Given the description of an element on the screen output the (x, y) to click on. 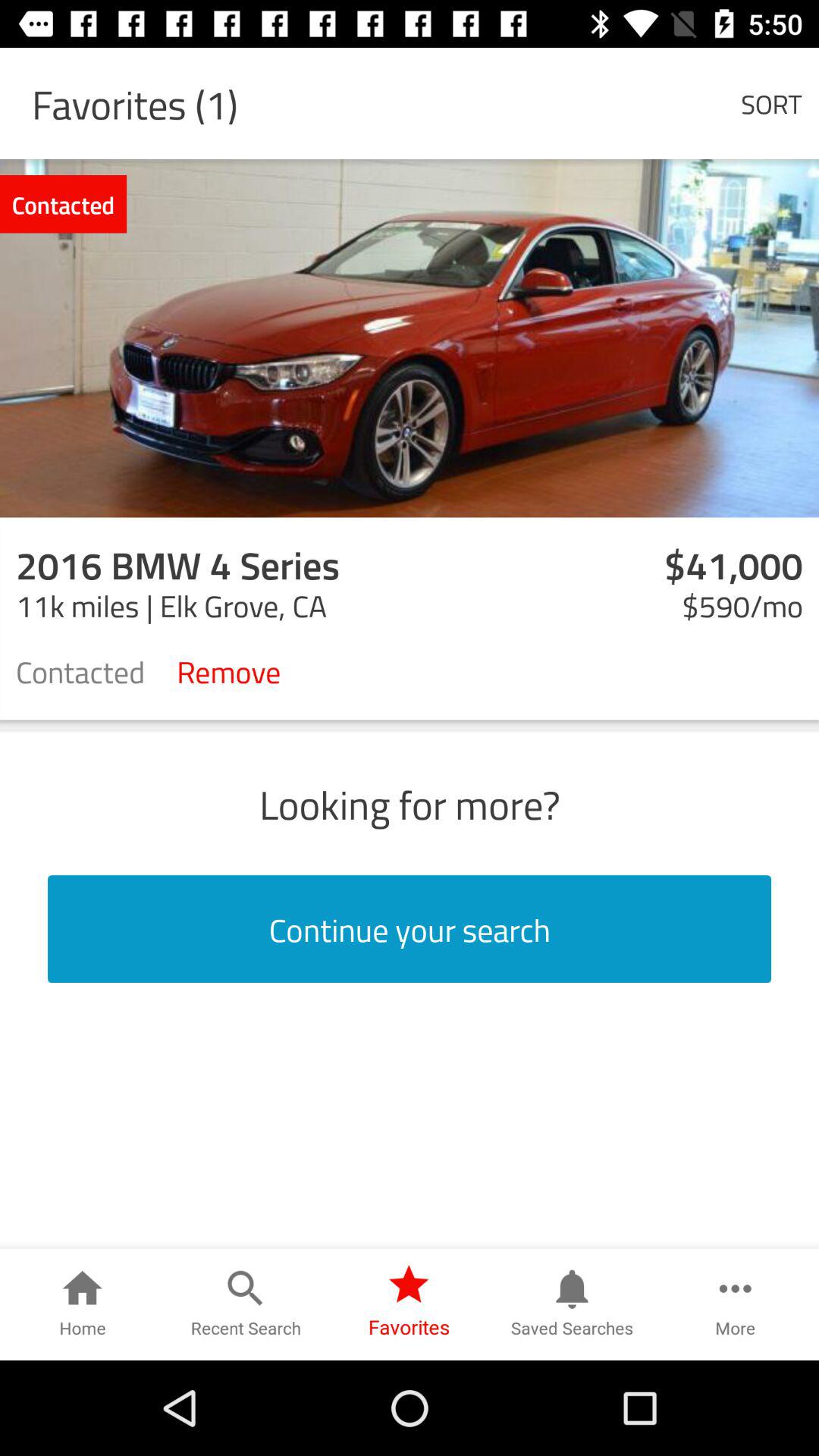
click icon below the looking for more? item (409, 928)
